Given the description of an element on the screen output the (x, y) to click on. 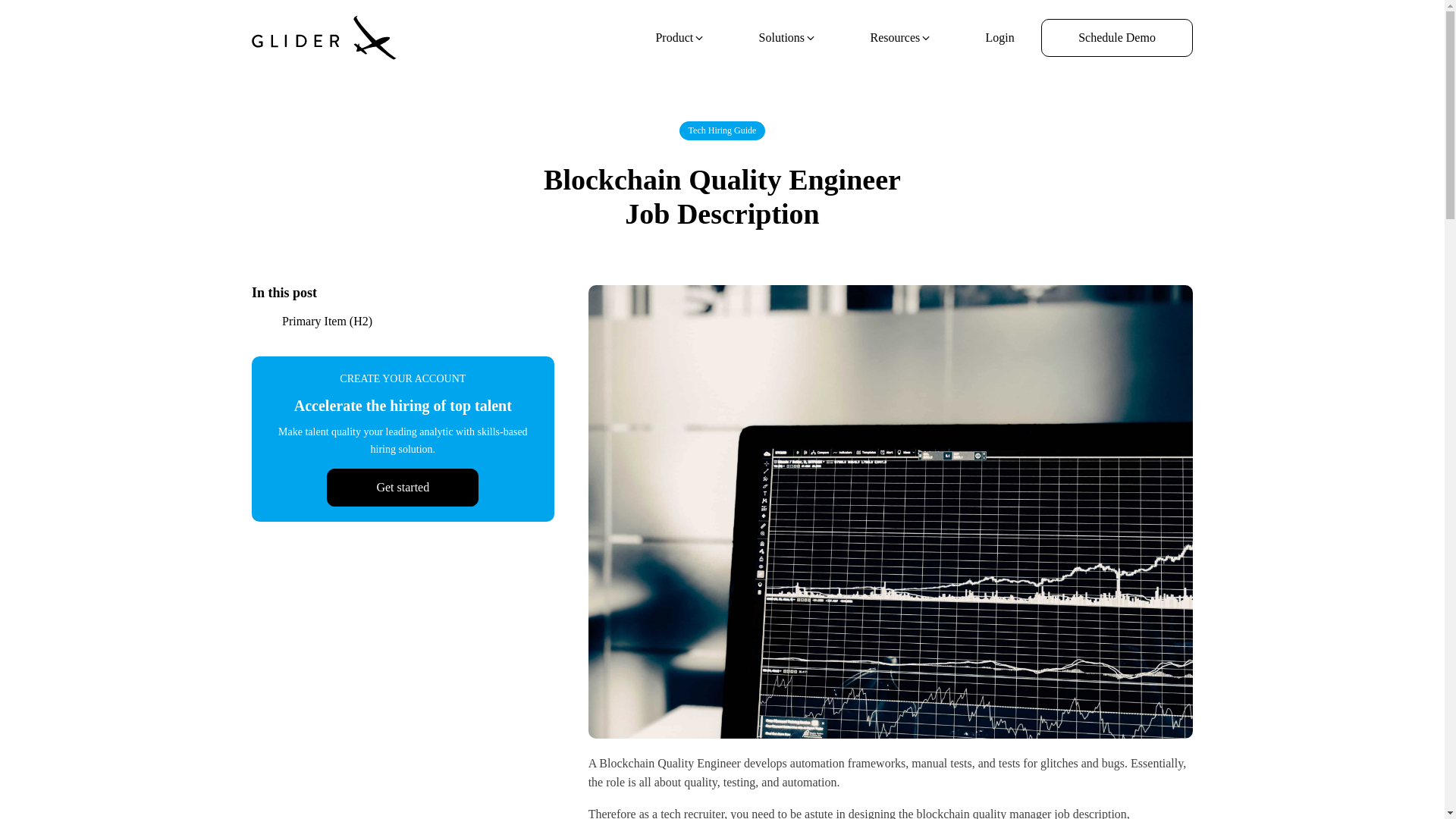
Solutions (787, 37)
Product (680, 37)
Resources (900, 37)
